Given the description of an element on the screen output the (x, y) to click on. 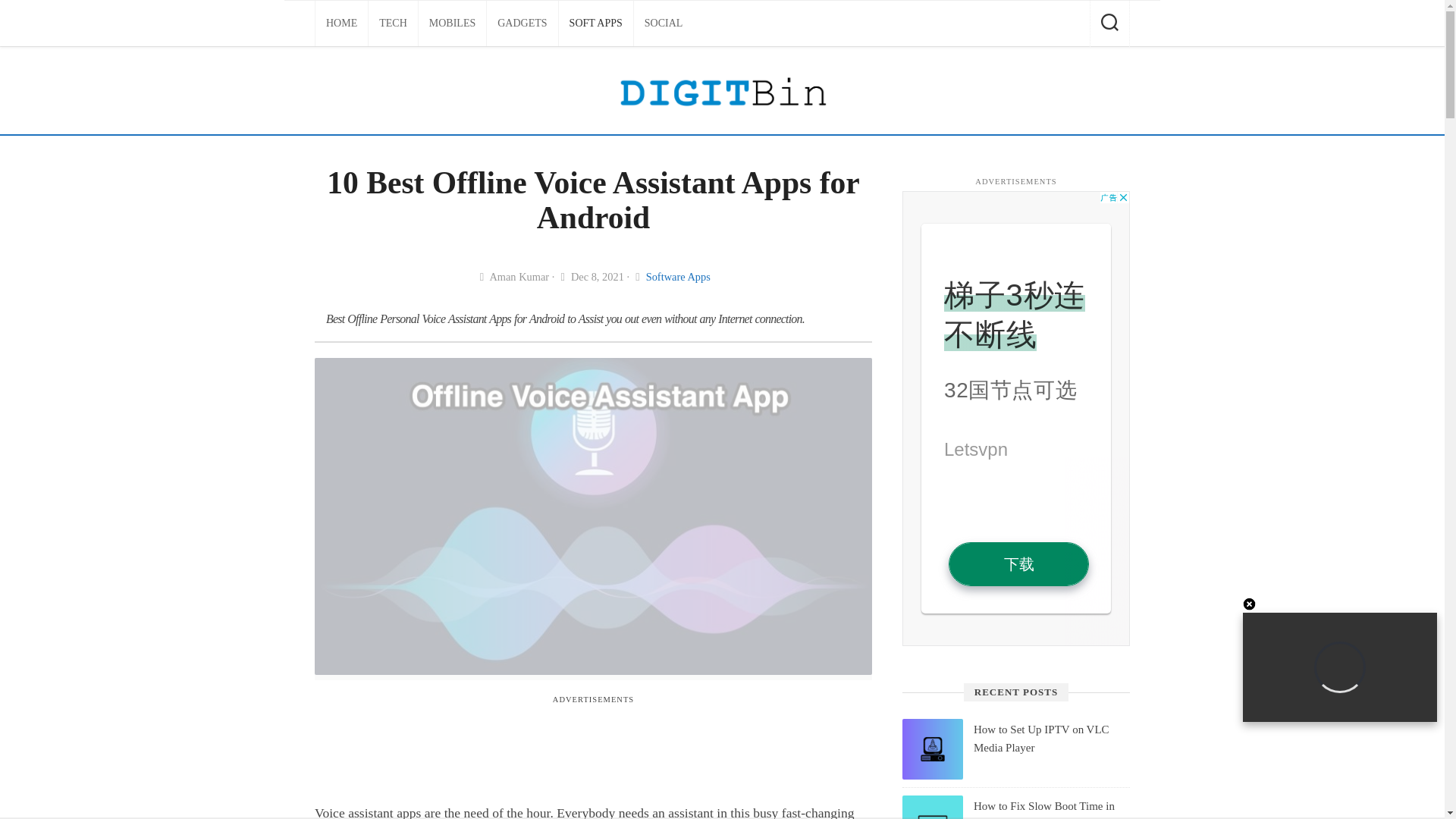
Software Apps (678, 276)
TECH (392, 23)
SOFT APPS (596, 23)
HOME (341, 23)
SOCIAL (663, 23)
Advertisement (592, 749)
MOBILES (452, 23)
GADGETS (522, 23)
